Given the description of an element on the screen output the (x, y) to click on. 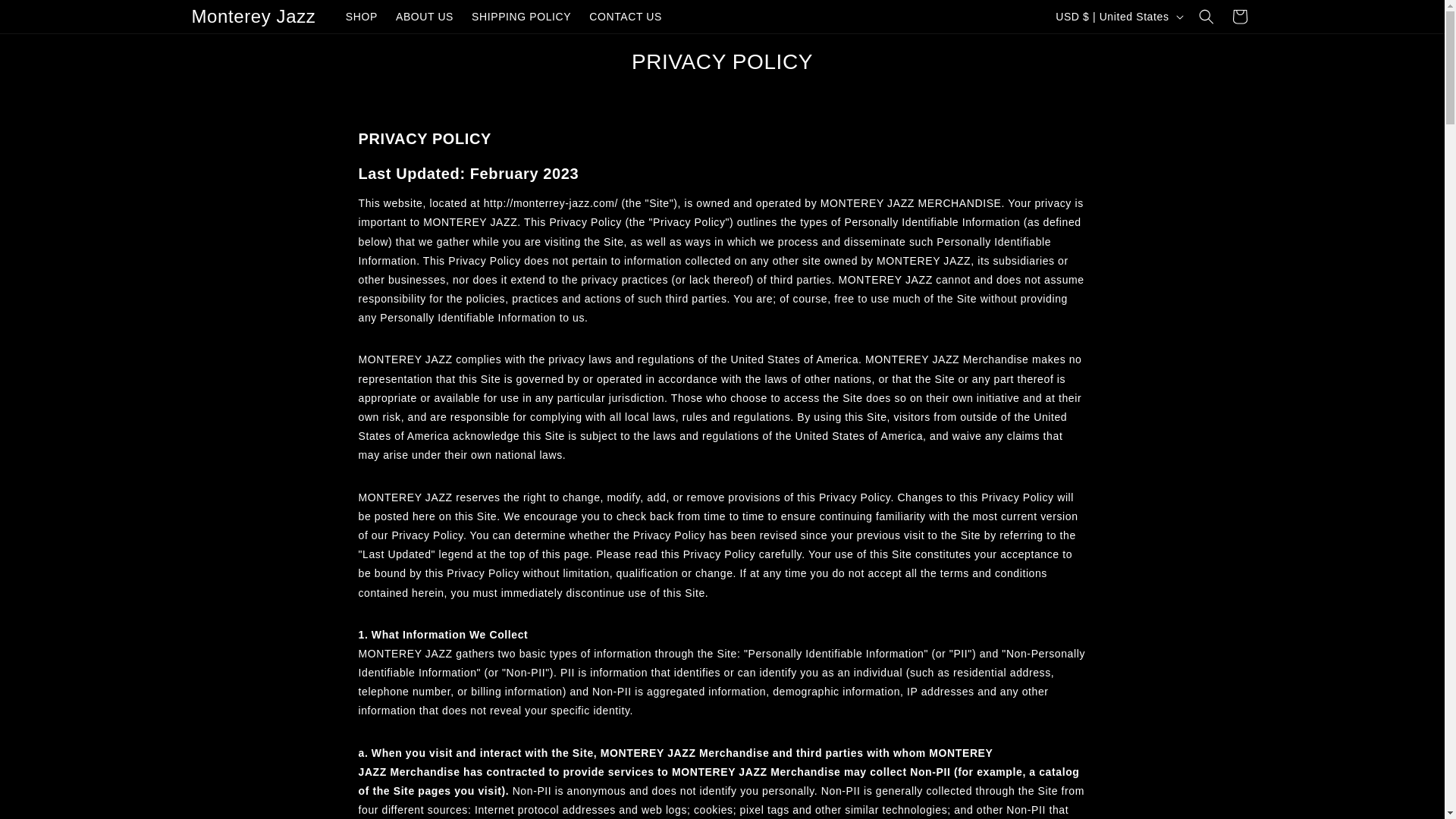
SHIPPING POLICY (521, 16)
ABOUT US (425, 16)
PRIVACY POLICY (722, 62)
SHOP (361, 16)
CONTACT US (625, 16)
Cart (1239, 16)
Monterey Jazz (253, 16)
Skip to content (45, 17)
